Given the description of an element on the screen output the (x, y) to click on. 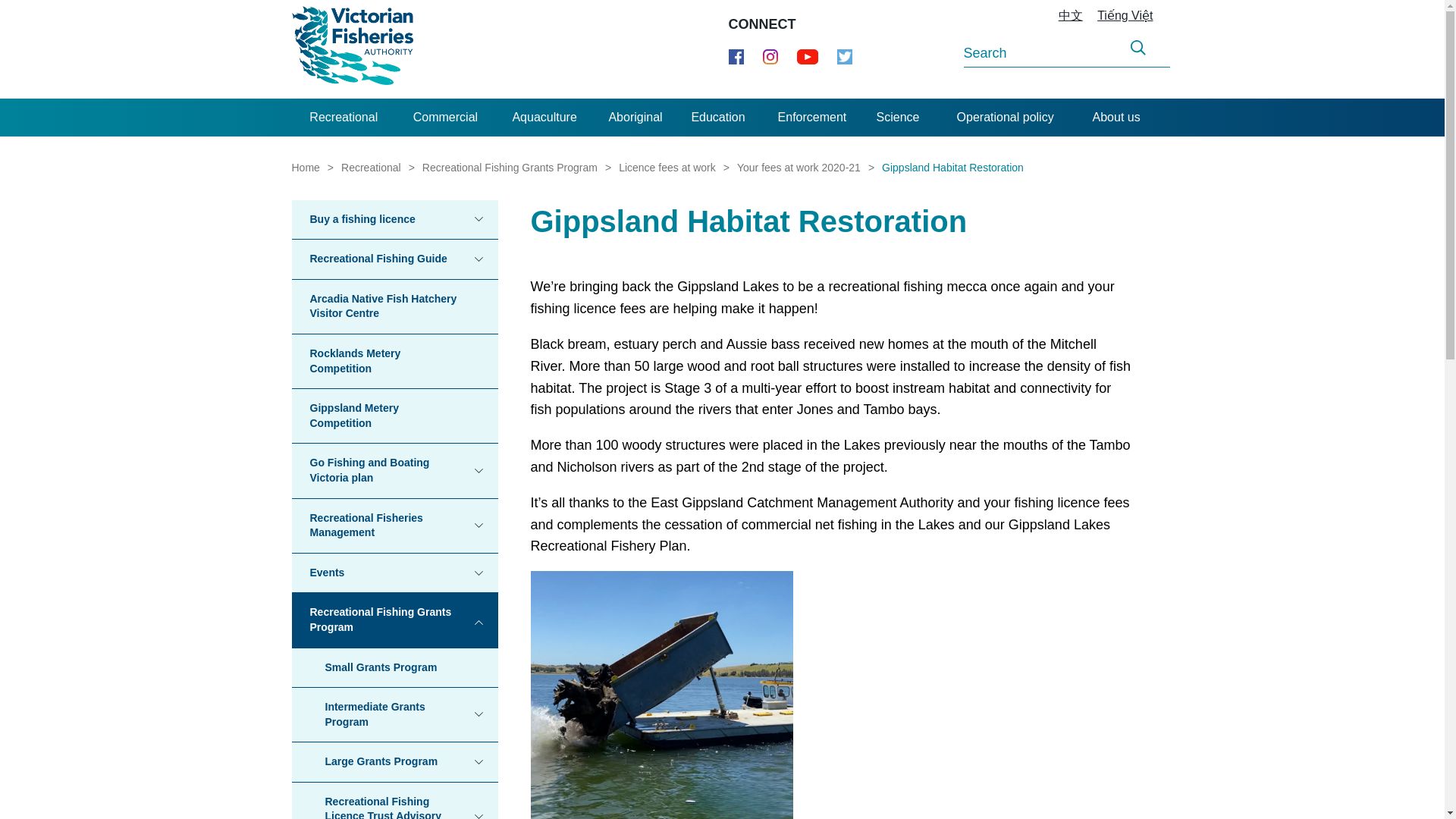
Instagram (769, 56)
Recreational (343, 117)
Facebook (735, 56)
Instagram (769, 56)
YouTube (806, 56)
Facebook (735, 56)
Search (1137, 47)
VFA (351, 48)
Home - VFA (351, 48)
YouTube (806, 56)
Commercial (445, 117)
Twitter (844, 60)
